Given the description of an element on the screen output the (x, y) to click on. 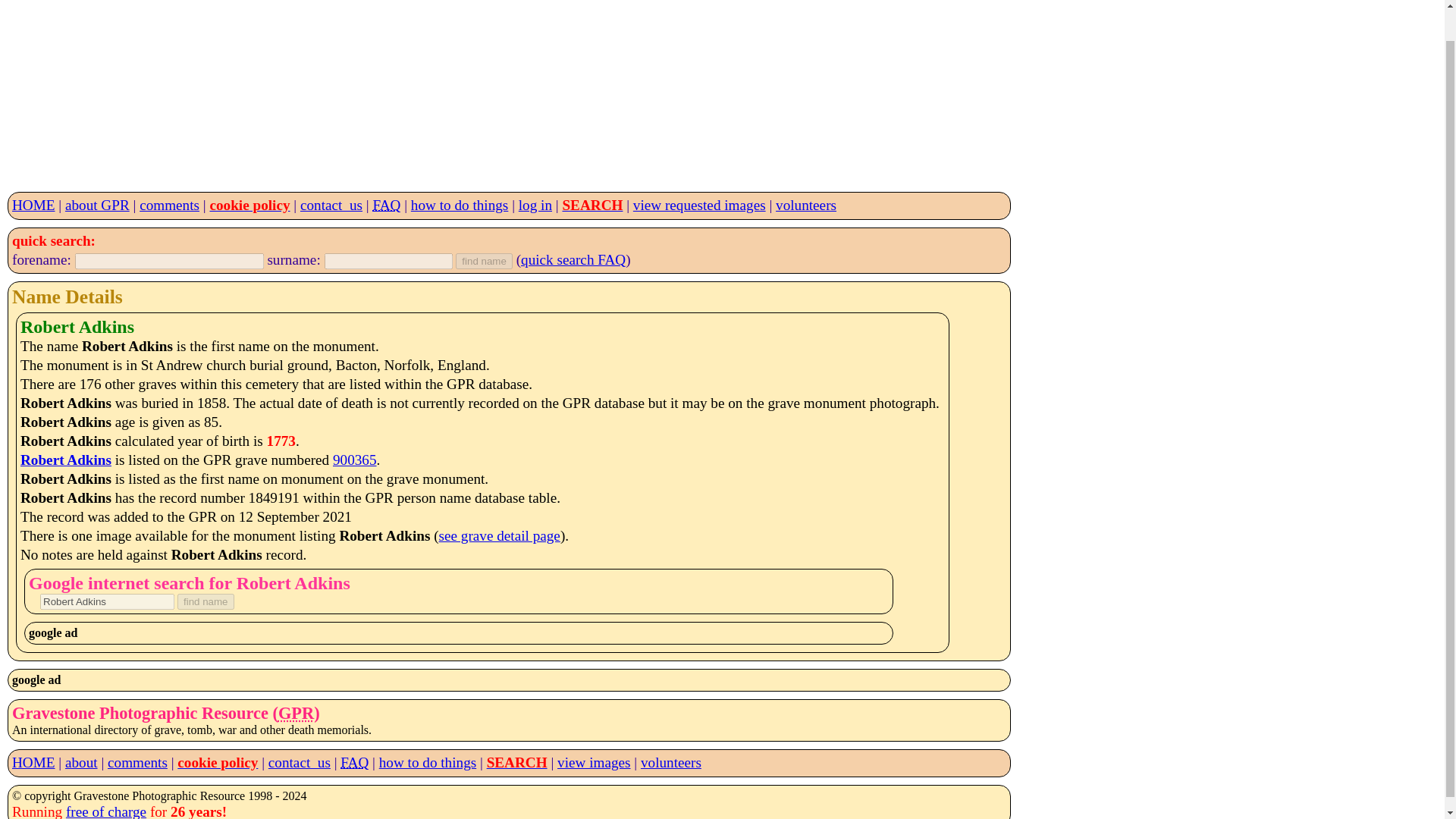
FAQ (386, 204)
Robert Adkins (107, 601)
view requested images (699, 204)
HOME (33, 762)
how to do things (459, 204)
SEARCH (592, 204)
view images (593, 762)
about (81, 762)
HOME (33, 204)
comments (137, 762)
comments (169, 204)
Robert Adkins (66, 459)
find name (205, 601)
Gravestone Photographic Resource (296, 712)
quick search FAQ (573, 259)
